Given the description of an element on the screen output the (x, y) to click on. 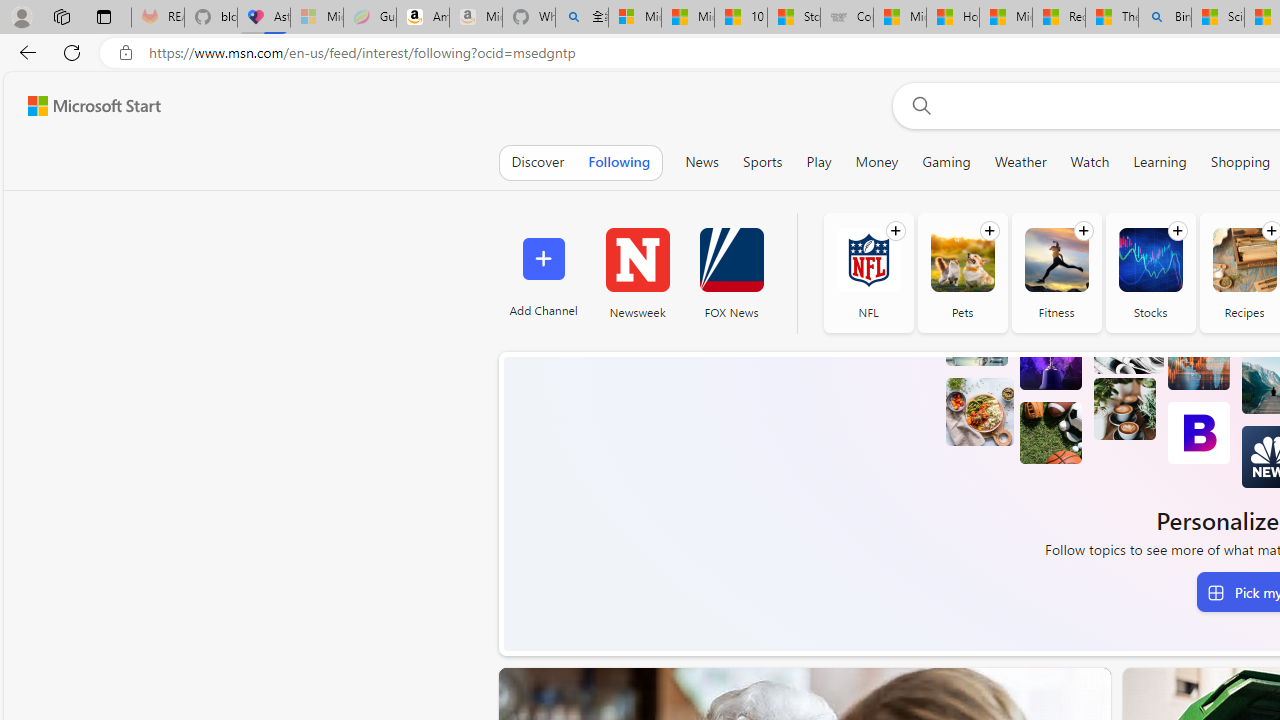
Bing (1165, 17)
Fitness (1056, 272)
Play (818, 161)
Gaming (946, 162)
Pets (962, 272)
